Given the description of an element on the screen output the (x, y) to click on. 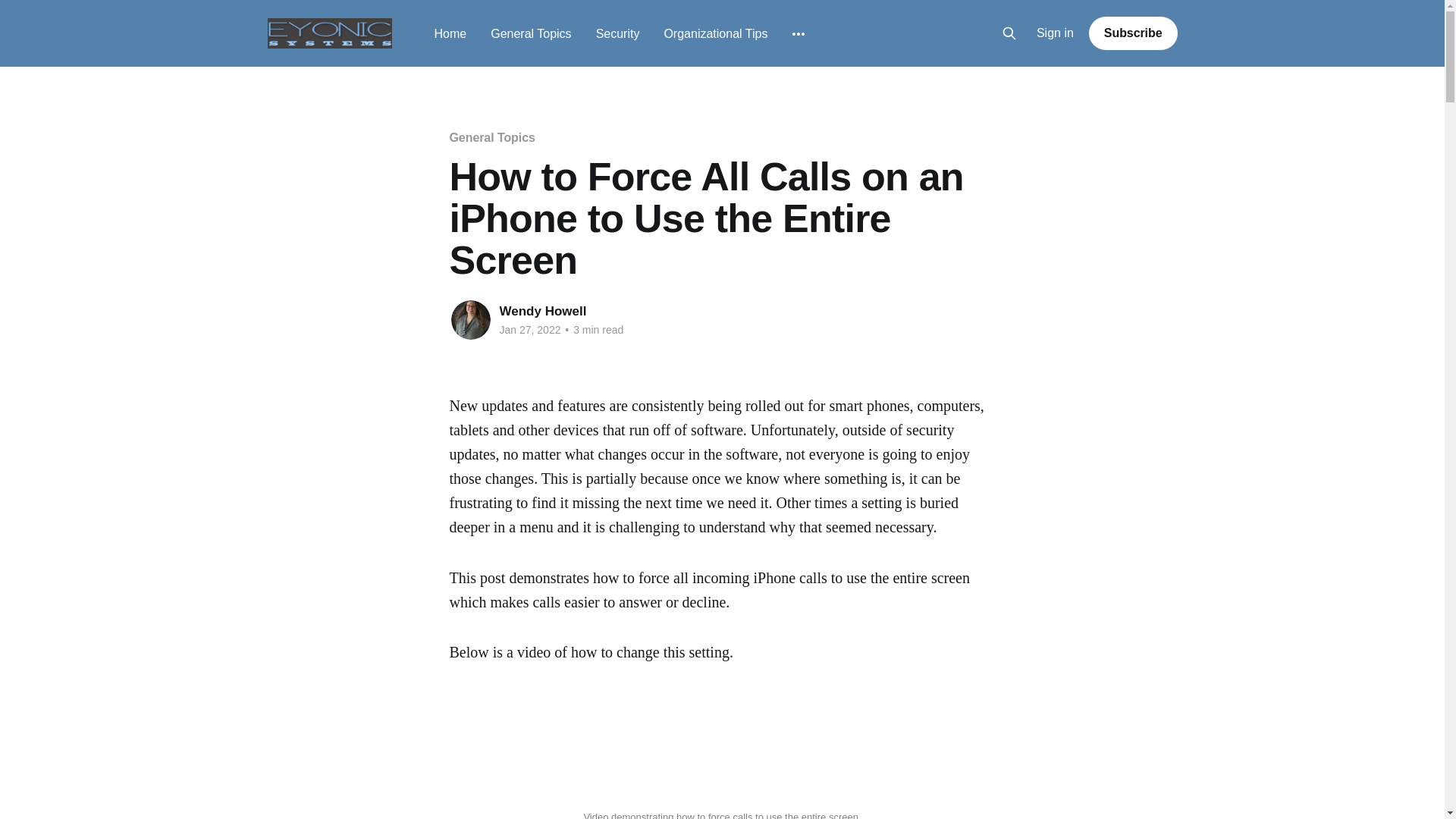
Home (449, 33)
Security (617, 33)
Wendy Howell (542, 310)
General Topics (491, 137)
Organizational Tips (715, 33)
Subscribe (1133, 32)
Sign in (1055, 33)
General Topics (530, 33)
